Given the description of an element on the screen output the (x, y) to click on. 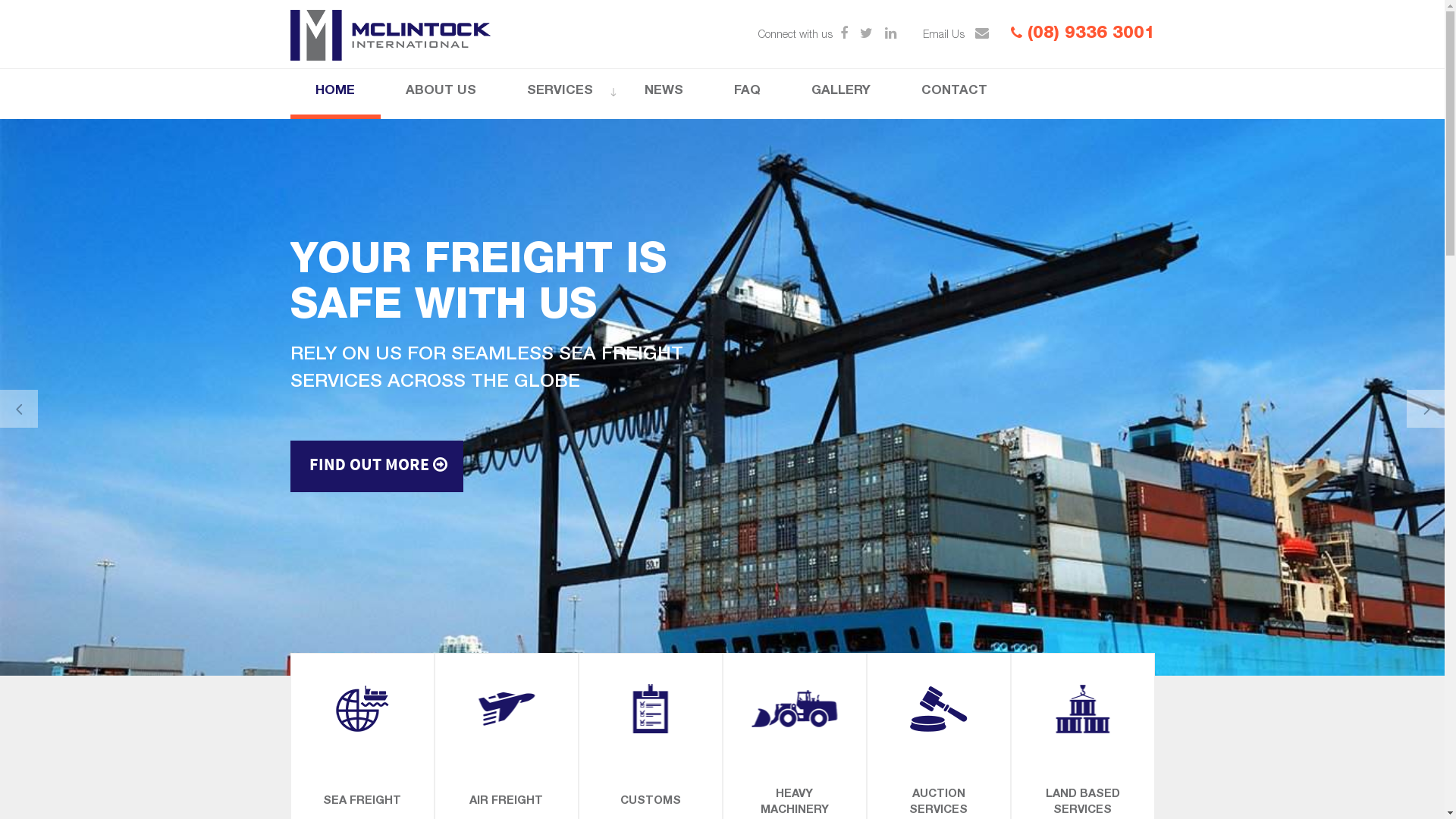
HOME Element type: text (334, 94)
NEWS Element type: text (663, 94)
(08) 9336 3001 Element type: text (1082, 33)
ABOUT US Element type: text (441, 94)
FIND OUT MORE Element type: text (375, 465)
Email Us Element type: text (955, 35)
Next Element type: text (1425, 408)
freight services Element type: hover (722, 397)
SERVICES Element type: text (560, 94)
CONTACT Element type: text (954, 94)
Previous Element type: text (18, 408)
GALLERY Element type: text (840, 94)
Mclintock International logo Element type: hover (389, 34)
FAQ Element type: text (746, 94)
